Given the description of an element on the screen output the (x, y) to click on. 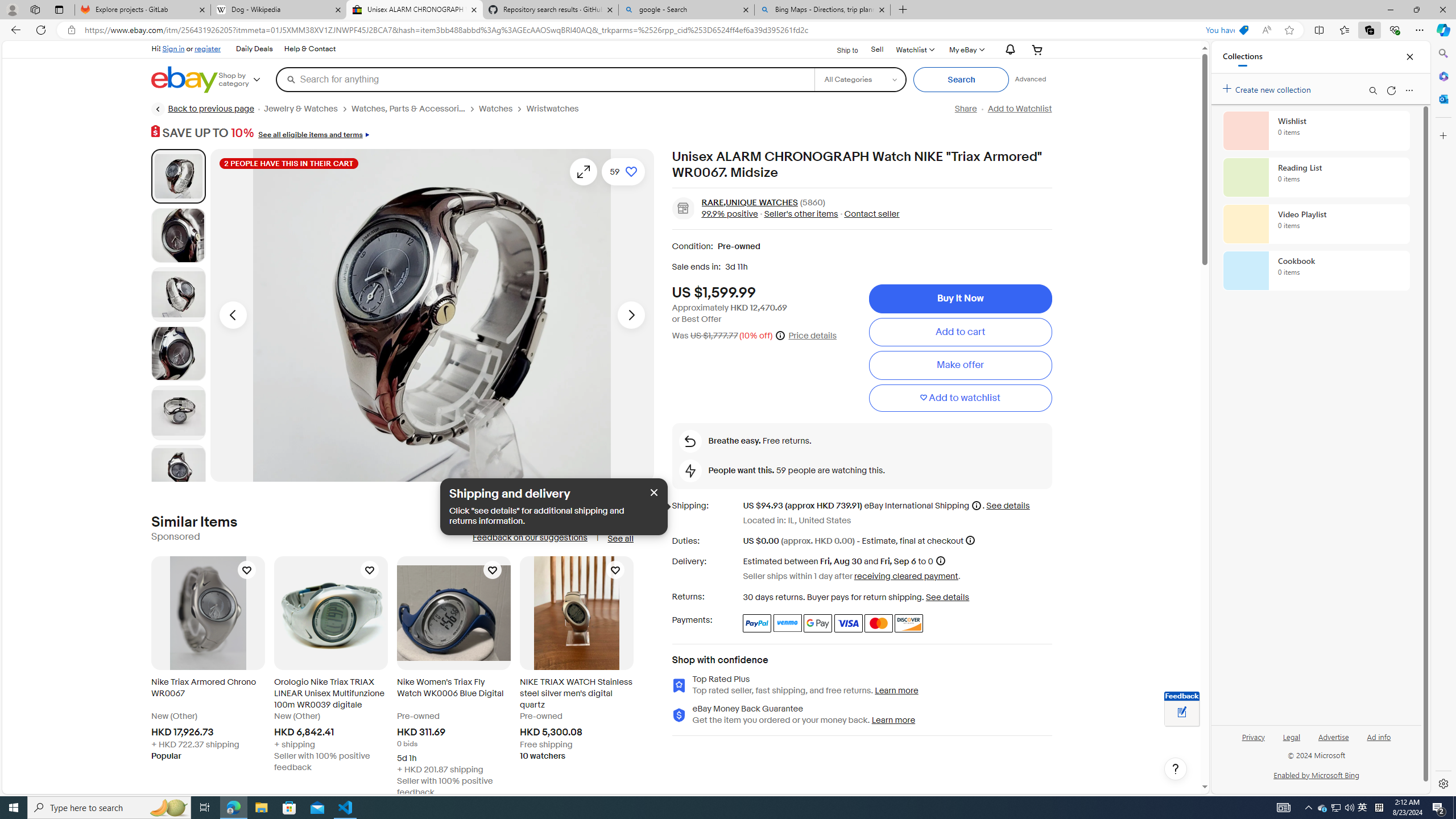
What does this price mean? (780, 335)
Wristwatches (552, 108)
My eBayExpand My eBay (966, 49)
Cookbook collection, 0 items (1316, 270)
eBay Home (184, 79)
Add Nike Triax Armored Chrono WR0067 to your watch list (246, 569)
Visa (848, 623)
Picture 5 of 18 (178, 412)
More options menu (1409, 90)
Advanced Search (1030, 78)
Sell (877, 49)
Add to watchlist - 59 watchers (623, 171)
